Given the description of an element on the screen output the (x, y) to click on. 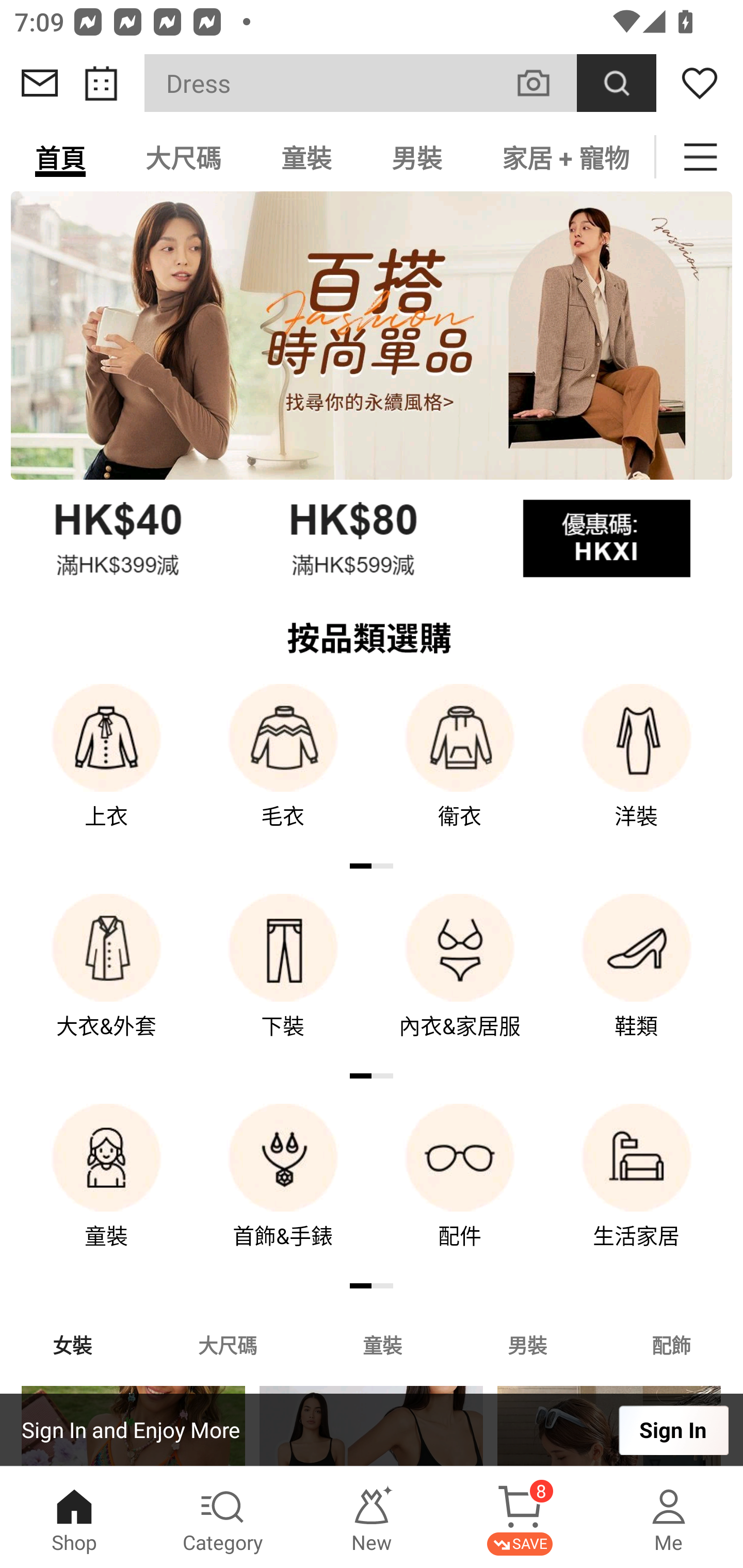
Wishlist (699, 82)
VISUAL SEARCH (543, 82)
首頁 (60, 156)
大尺碼 (183, 156)
童裝 (306, 156)
男裝 (416, 156)
家居 + 寵物 (563, 156)
上衣 (105, 769)
毛衣 (282, 769)
衛衣 (459, 769)
洋裝 (636, 769)
大衣&外套 (105, 979)
下裝 (282, 979)
內衣&家居服 (459, 979)
鞋類 (636, 979)
童裝 (105, 1189)
首飾&手錶 (282, 1189)
配件 (459, 1189)
生活家居 (636, 1189)
女裝 (72, 1344)
大尺碼 (226, 1344)
童裝 (381, 1344)
男裝 (527, 1344)
配飾 (671, 1344)
Sign In and Enjoy More Sign In (371, 1429)
Category (222, 1517)
New (371, 1517)
Cart 8 SAVE (519, 1517)
Me (668, 1517)
